Given the description of an element on the screen output the (x, y) to click on. 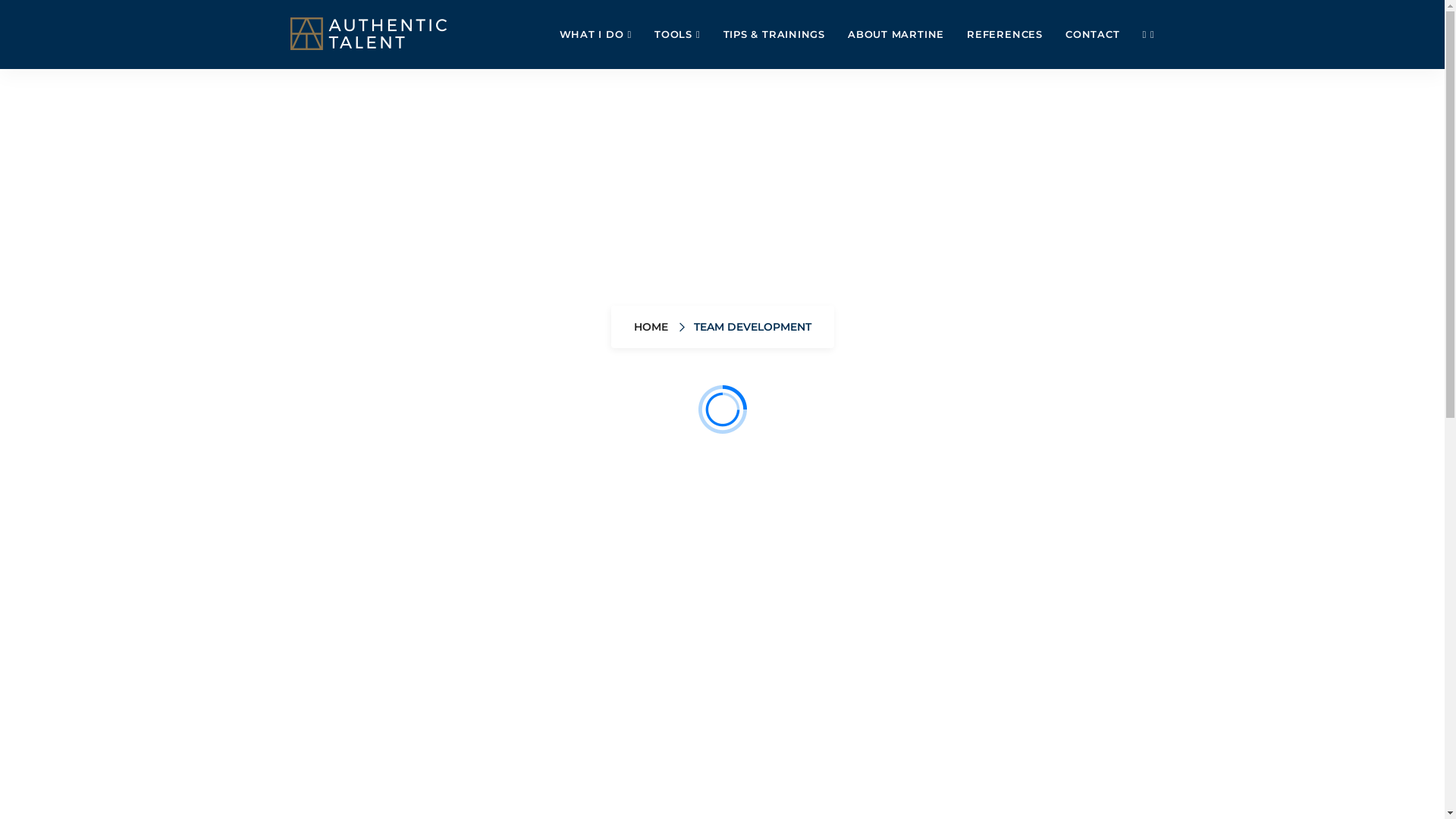
WHAT I DO Element type: text (595, 34)
CONTACT Element type: text (1092, 34)
REFERENCES Element type: text (1004, 34)
TIPS & TRAININGS Element type: text (774, 34)
ABOUT MARTINE Element type: text (895, 34)
Team assessment Element type: text (719, 546)
Leadership Trainings Element type: text (881, 546)
TOOLS Element type: text (677, 34)
